Given the description of an element on the screen output the (x, y) to click on. 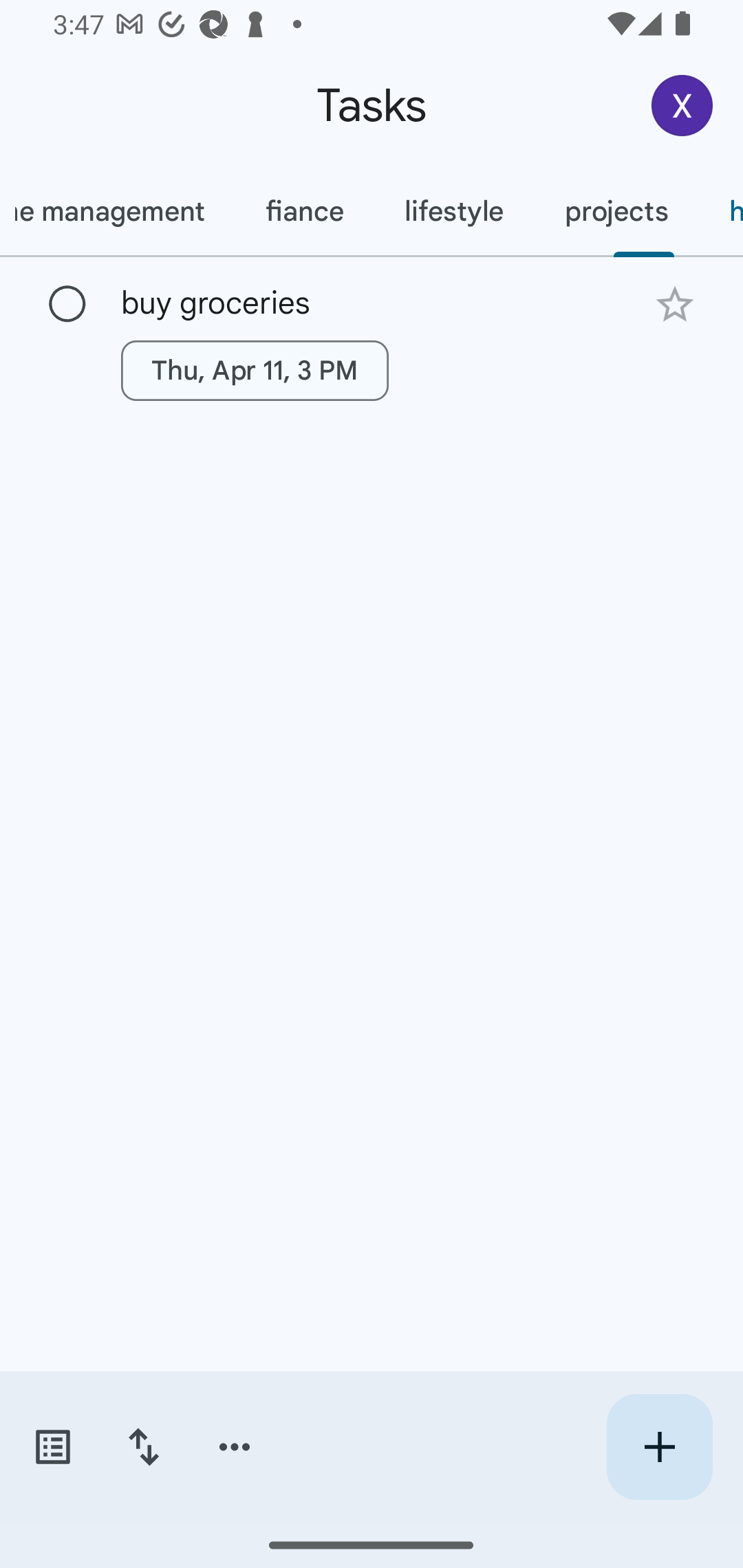
home management (117, 211)
fiance (303, 211)
lifestyle (453, 211)
projects (616, 211)
Add star (674, 303)
Mark as complete (67, 304)
Thu, Apr 11, 3 PM (254, 369)
Switch task lists (52, 1447)
Create new task (659, 1446)
Change sort order (143, 1446)
More options (234, 1446)
